Given the description of an element on the screen output the (x, y) to click on. 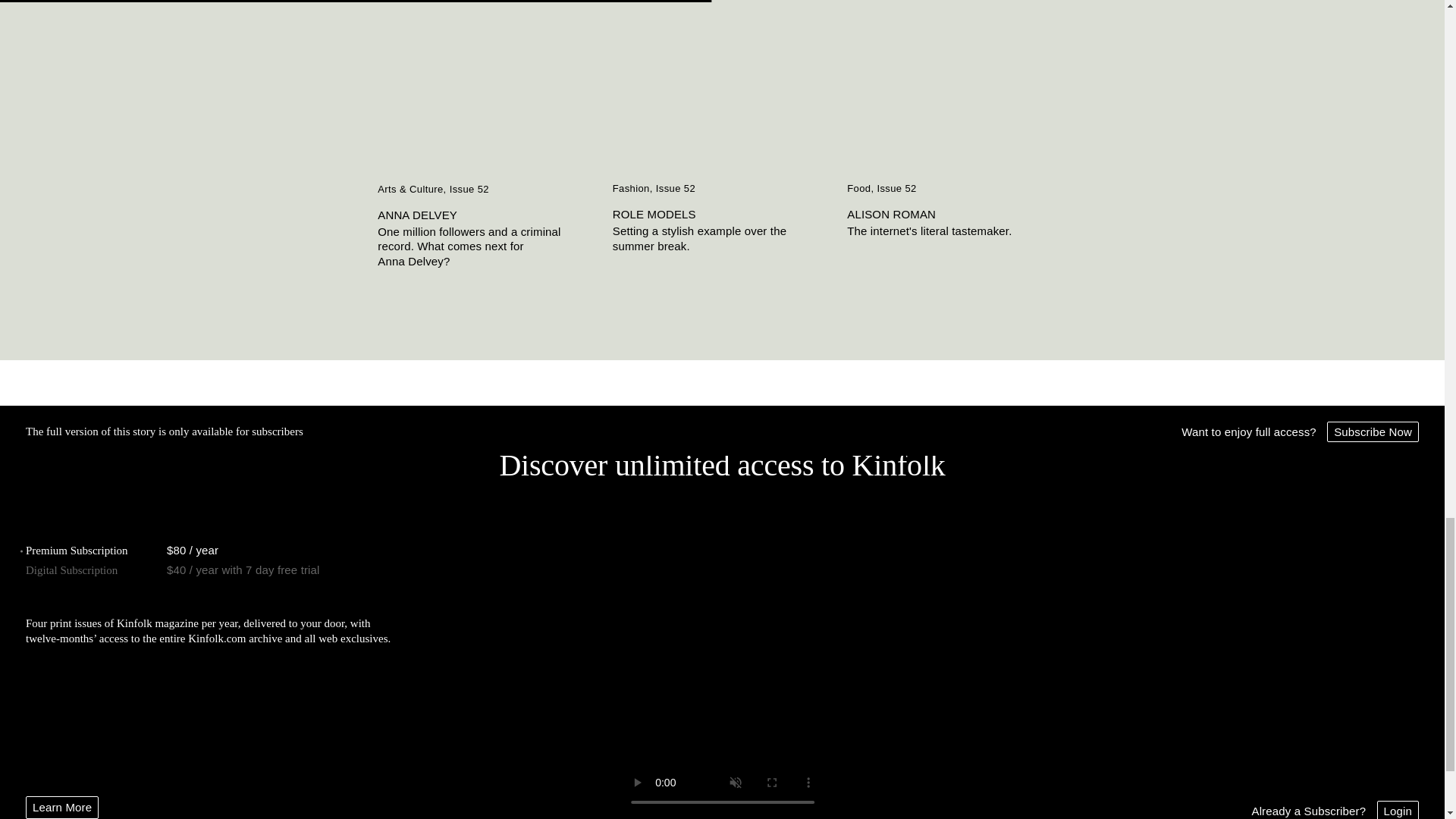
Issue 52 (895, 188)
ANNA DELVEY (486, 215)
Login (1397, 809)
Premium Subscription (77, 550)
ALISON ROMAN (957, 214)
Setting a stylish example over the summer break. (722, 238)
Issue 52 (675, 188)
Fashion,  (634, 188)
Food,  (861, 188)
ROLE MODELS (722, 214)
